Given the description of an element on the screen output the (x, y) to click on. 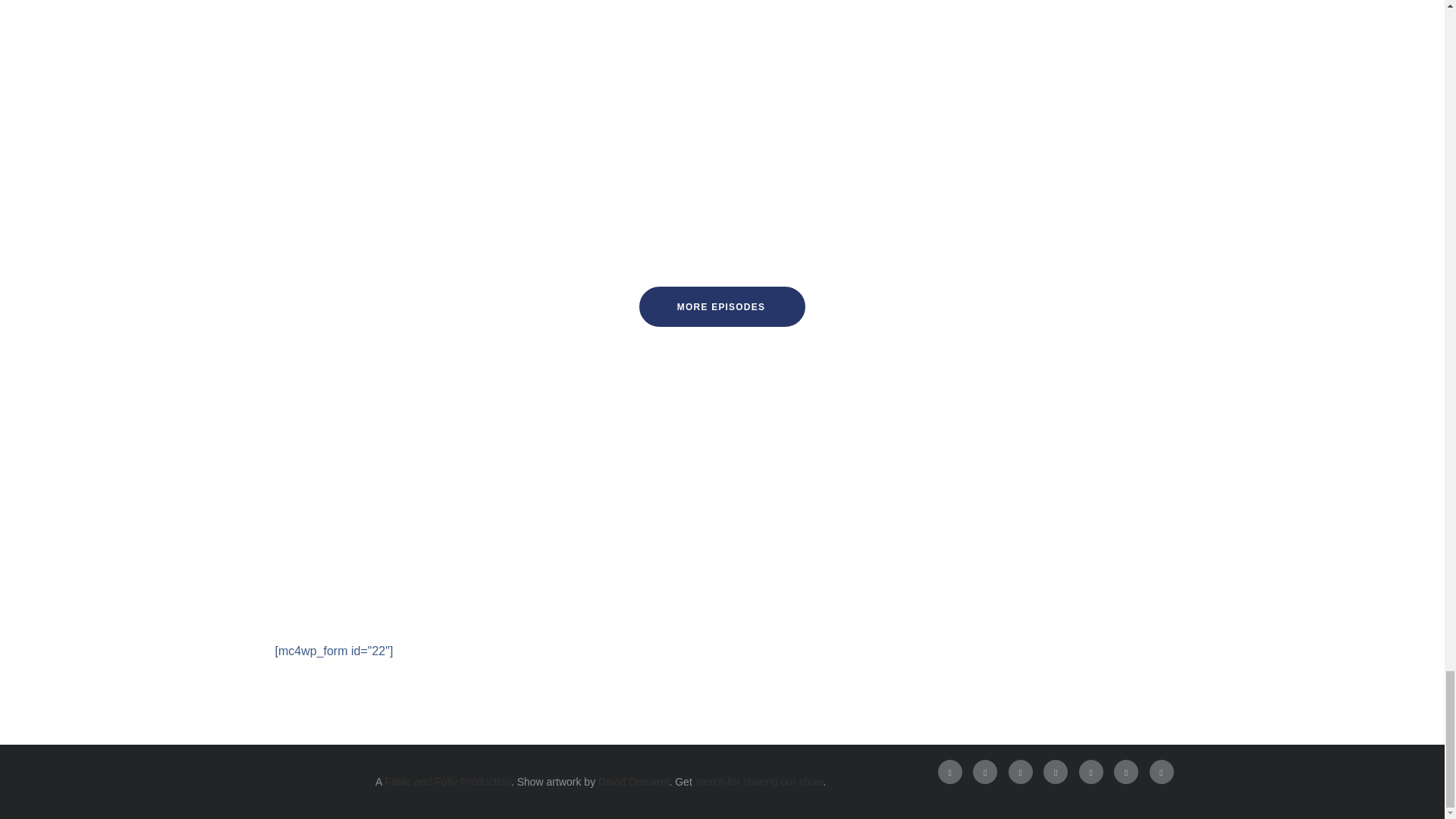
Facebook (949, 771)
Twitter (984, 771)
Android (1161, 771)
RSS (1090, 771)
Instagram (1020, 771)
Spotify (1055, 771)
Podcast (1125, 771)
